Given the description of an element on the screen output the (x, y) to click on. 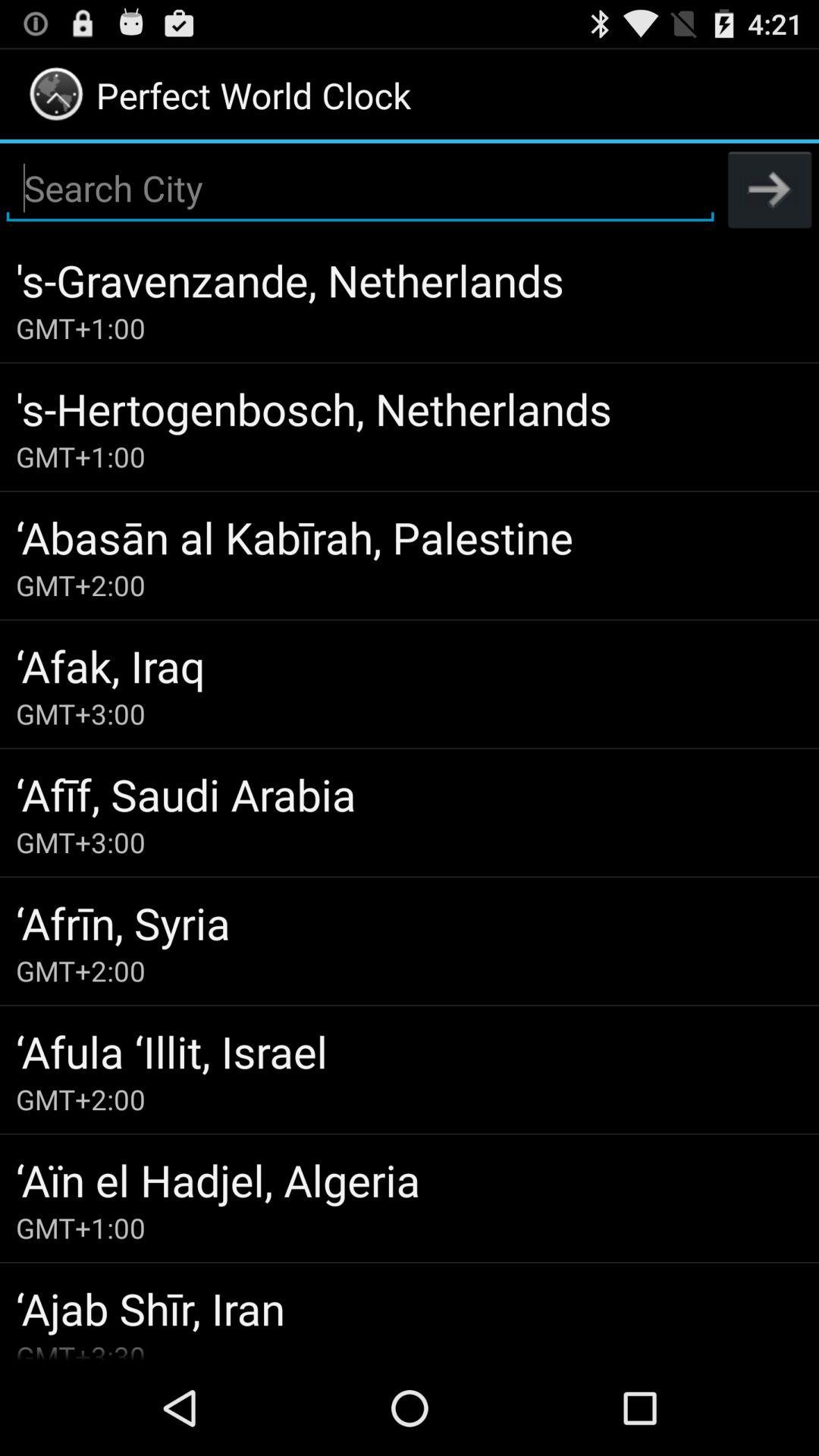
turn off item above the gmt+3:30 item (409, 1308)
